Given the description of an element on the screen output the (x, y) to click on. 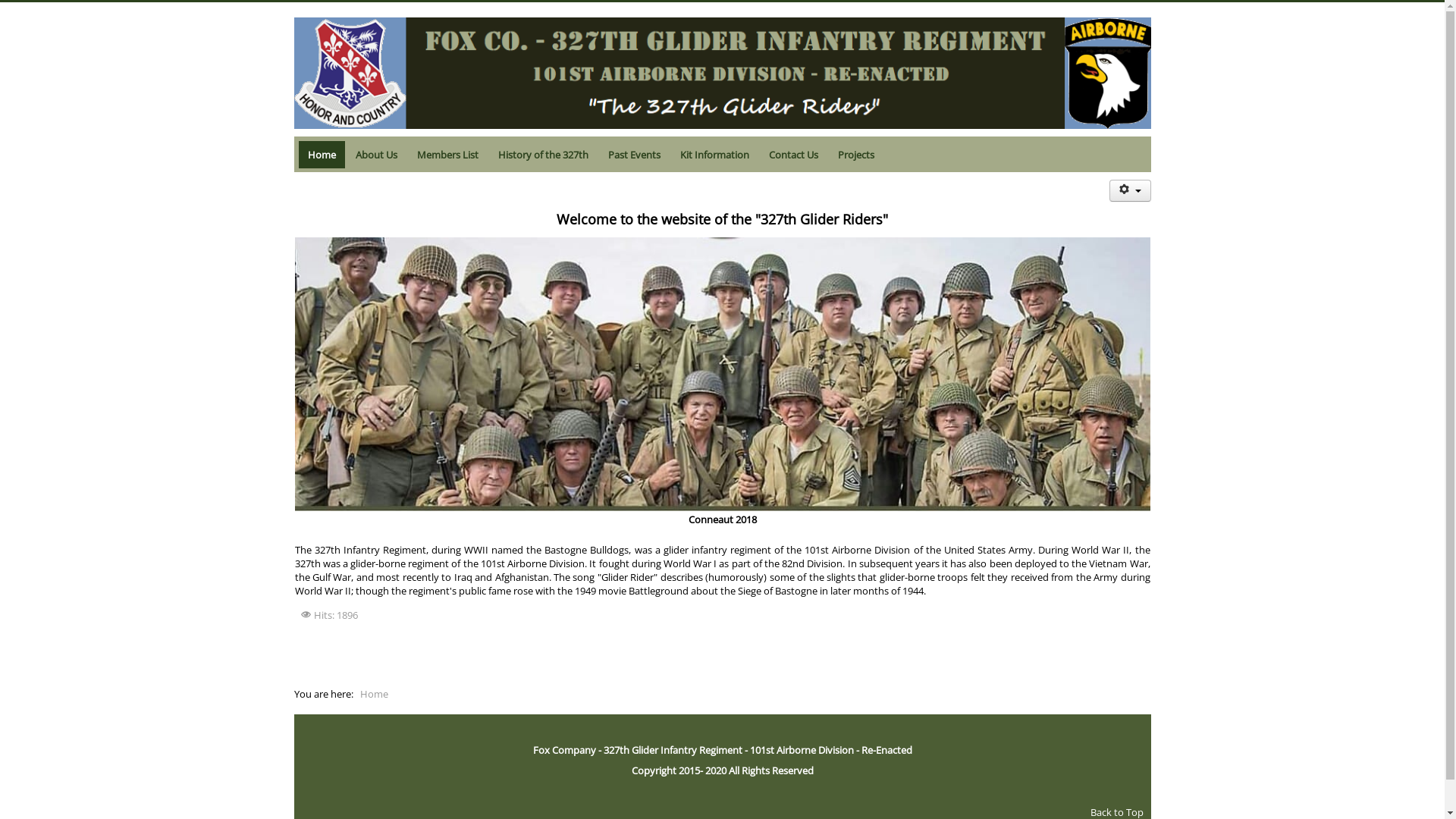
Contact Us Element type: text (793, 154)
Projects Element type: text (855, 154)
About Us Element type: text (375, 154)
Past Events Element type: text (634, 154)
Home Element type: text (321, 154)
Kit Information Element type: text (713, 154)
History of the 327th Element type: text (542, 154)
Members List Element type: text (447, 154)
